Given the description of an element on the screen output the (x, y) to click on. 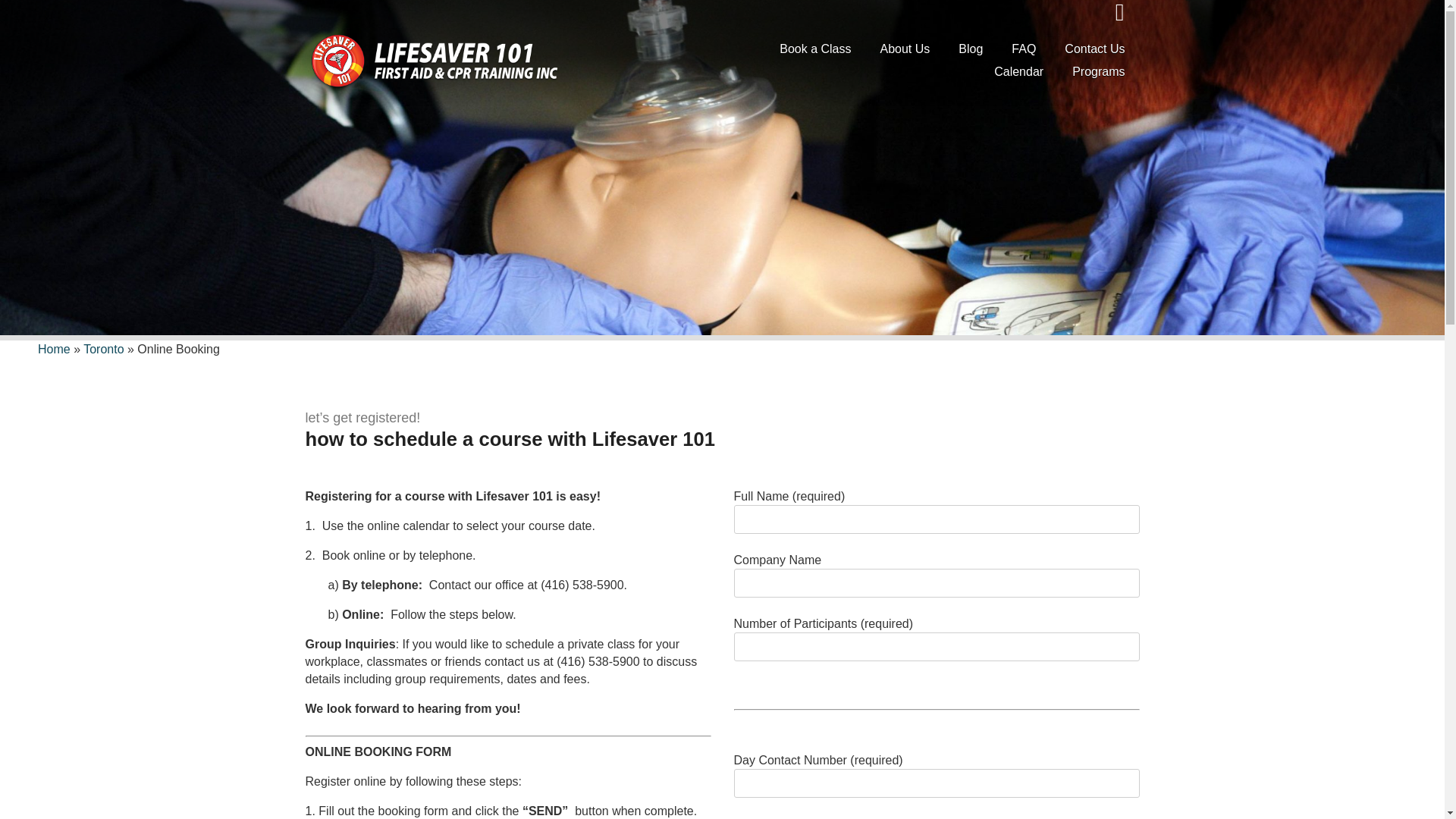
FAQ (1023, 48)
Book a Class (815, 48)
Contact Us (1094, 48)
Toronto (102, 349)
About Us (904, 48)
Programs (1098, 71)
Home (53, 349)
Calendar (1018, 71)
Blog (970, 48)
